Given the description of an element on the screen output the (x, y) to click on. 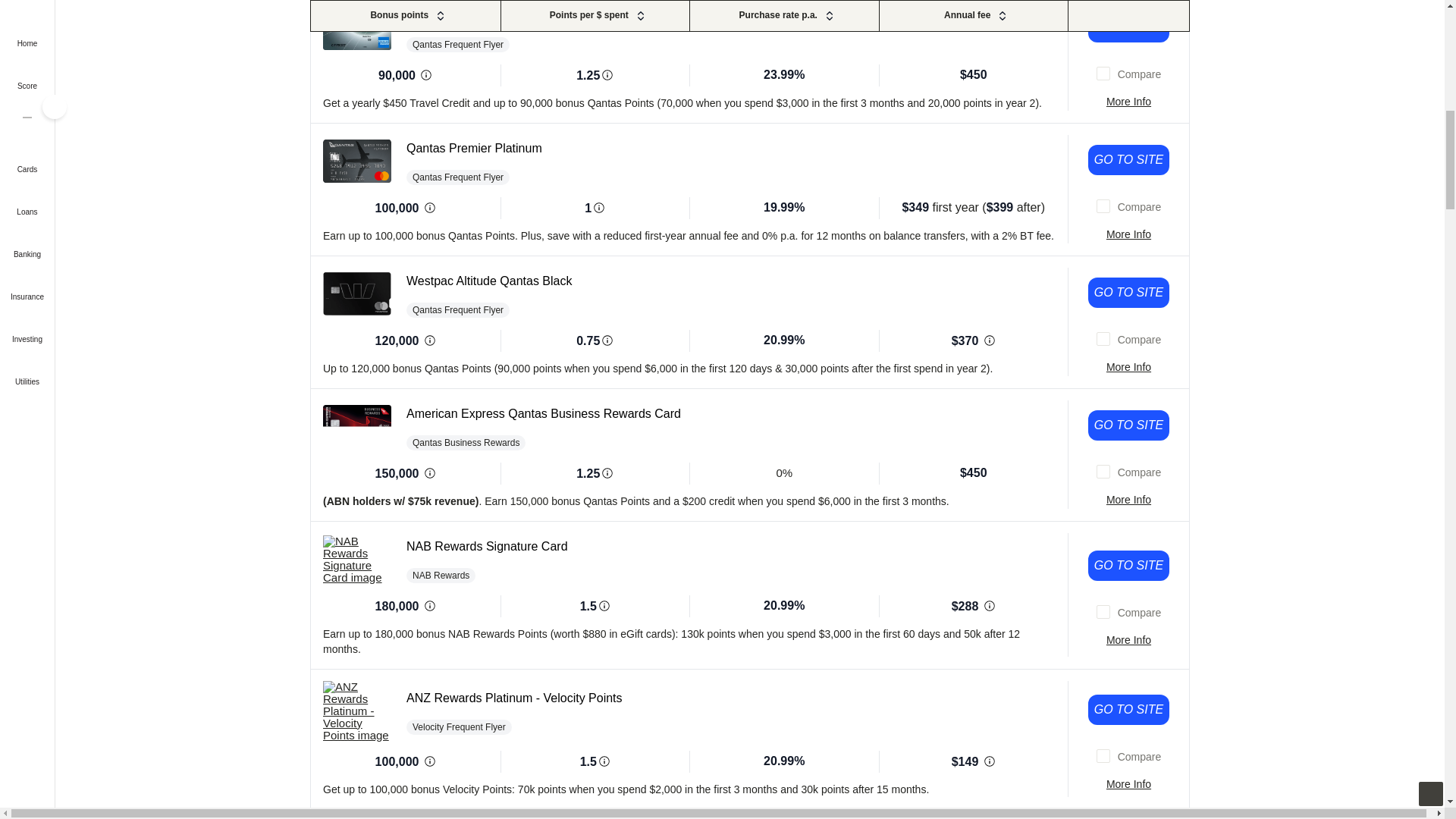
Apply Now For The Qantas American Express Ultimate Card (1128, 27)
Bonus Points Conditions (426, 74)
Read More About The Westpac Altitude Qantas Black (1128, 366)
Read More About The Qantas Premier Platinum (1128, 233)
Apply Now For The Qantas Premier Platinum (1128, 159)
Read More About The Qantas American Express Ultimate Card (1128, 101)
Bonus Points Conditions (429, 472)
Bonus Points Conditions (429, 340)
